Given the description of an element on the screen output the (x, y) to click on. 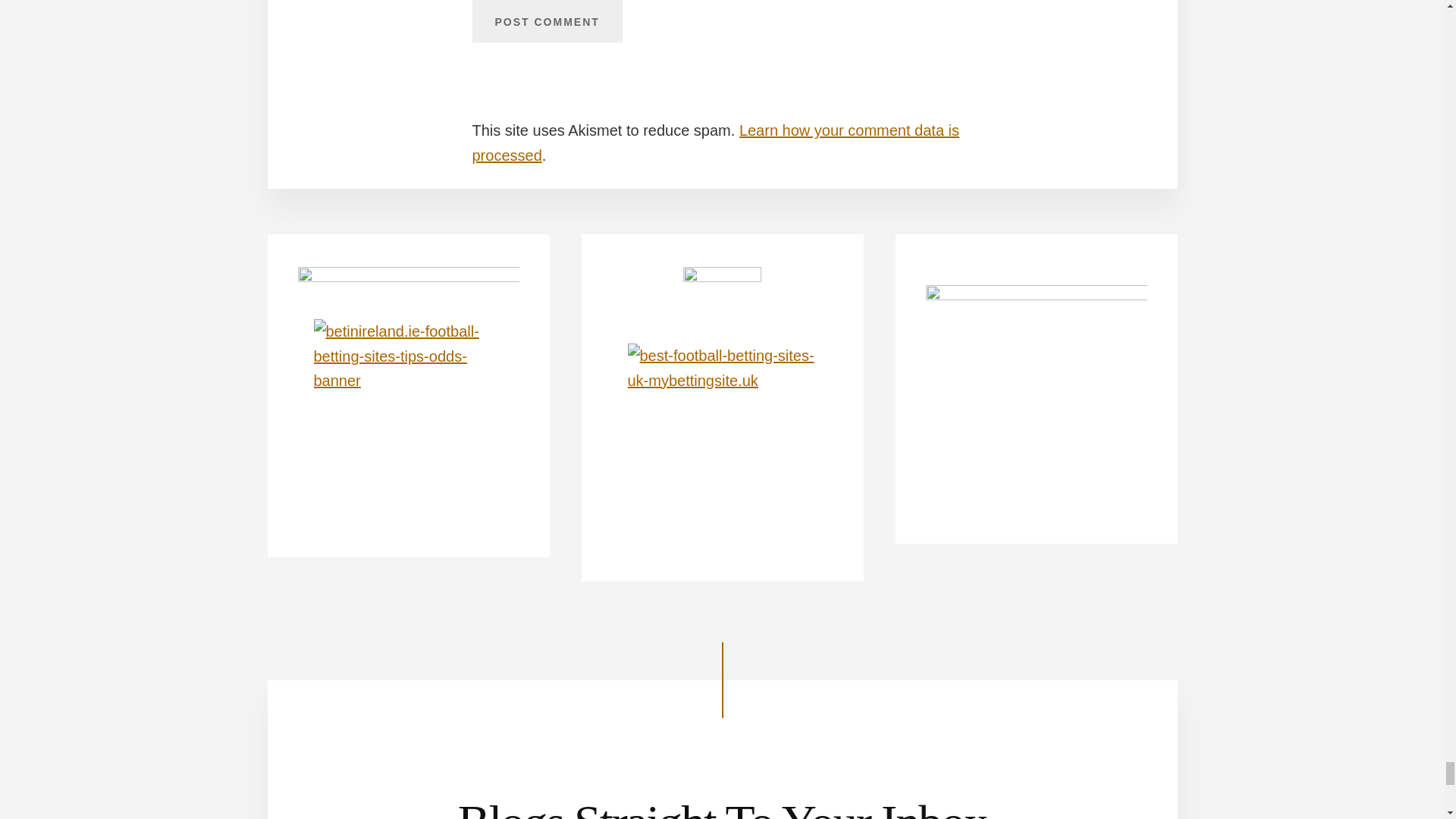
Post Comment (546, 21)
